Given the description of an element on the screen output the (x, y) to click on. 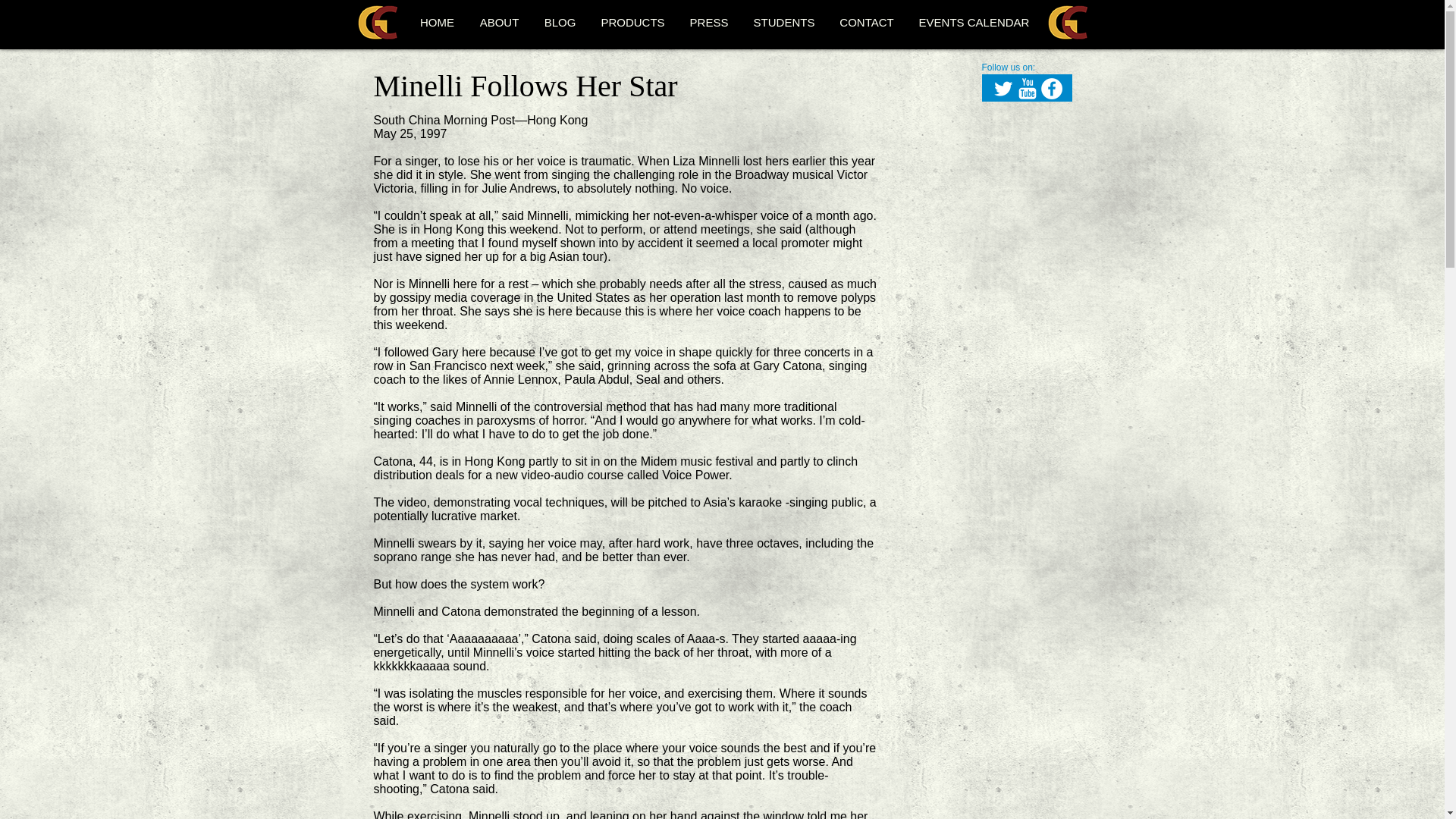
HOME (437, 22)
PRODUCTS (632, 22)
STUDENTS (783, 22)
PRESS (708, 22)
EVENTS CALENDAR (973, 22)
Gary Catona Logo (377, 22)
BLOG (559, 22)
Gary Catona Logo (1067, 22)
ABOUT (499, 22)
CONTACT (866, 22)
